Given the description of an element on the screen output the (x, y) to click on. 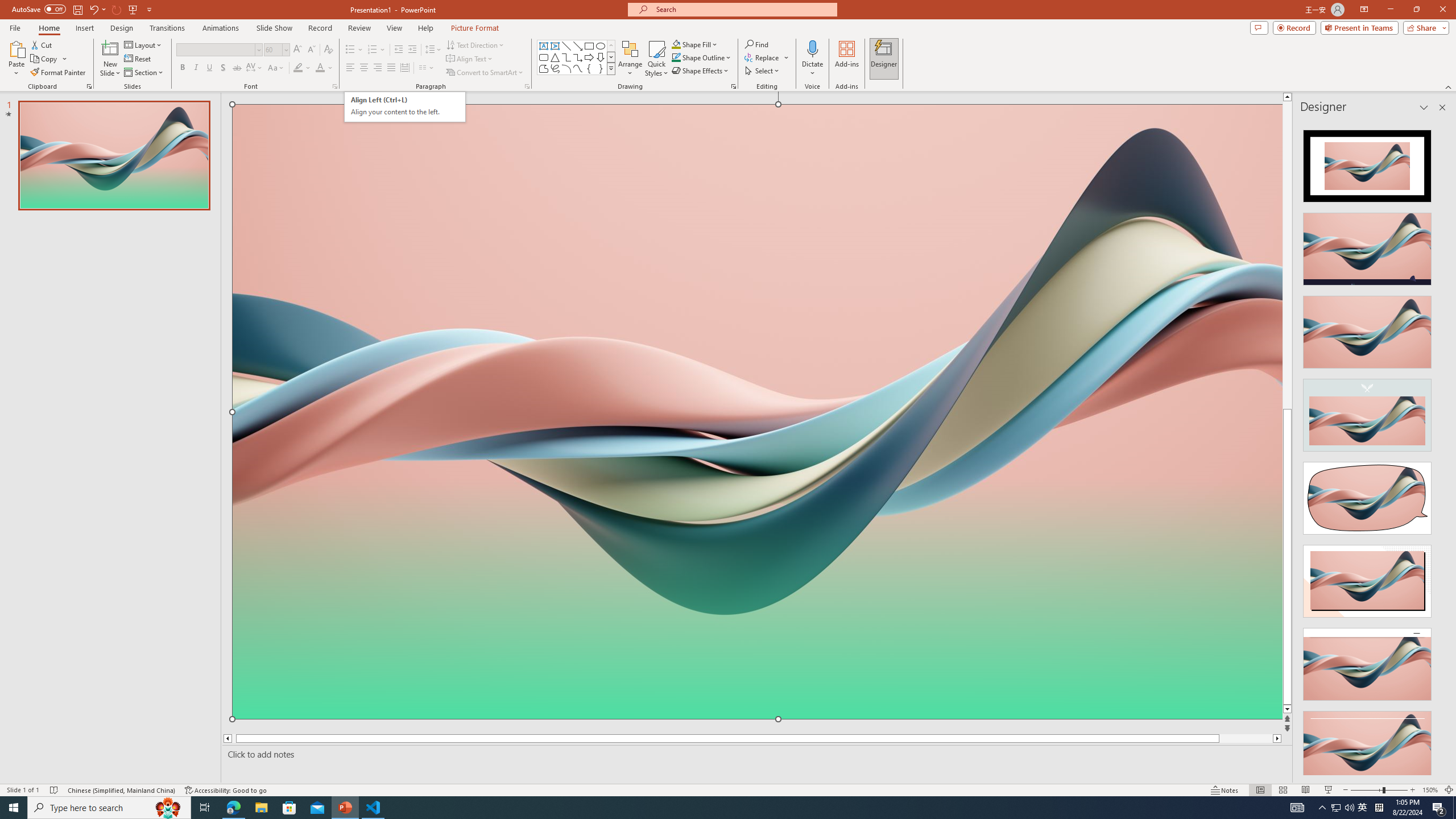
Class: NetUIScrollBar (1441, 447)
Recommended Design: Design Idea (1366, 162)
